Given the description of an element on the screen output the (x, y) to click on. 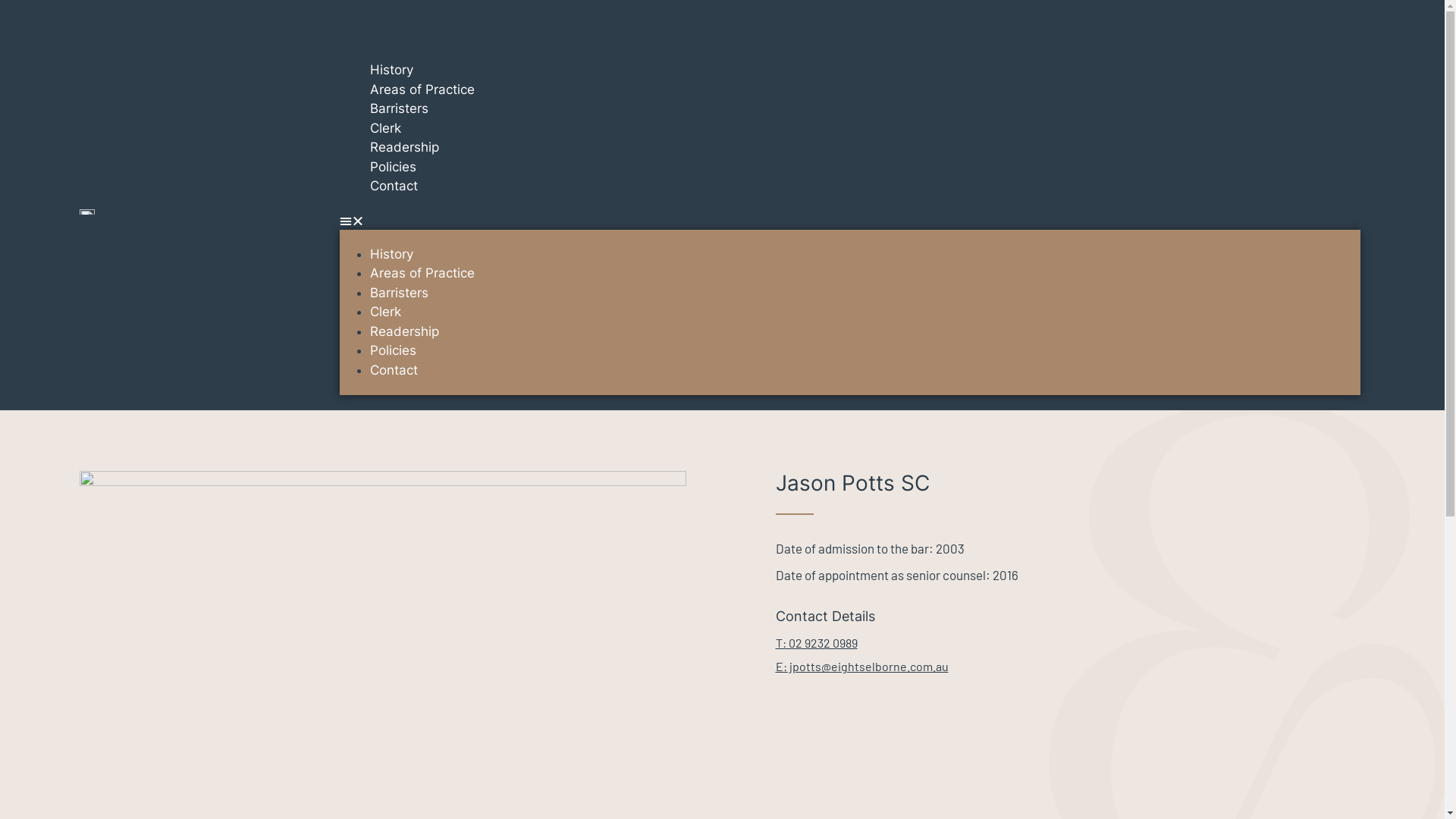
Barristers Element type: text (399, 108)
Areas of Practice Element type: text (422, 89)
Policies Element type: text (393, 166)
Policies Element type: text (393, 349)
Contact Element type: text (393, 185)
Clerk Element type: text (385, 311)
T: 02 9232 0989 Element type: text (815, 642)
E: jpotts@eightselborne.com.au Element type: text (861, 665)
Readership Element type: text (404, 146)
Areas of Practice Element type: text (422, 272)
Contact Element type: text (393, 369)
History Element type: text (391, 69)
Clerk Element type: text (385, 126)
History Element type: text (391, 252)
Barristers Element type: text (399, 292)
Readership Element type: text (404, 330)
